Given the description of an element on the screen output the (x, y) to click on. 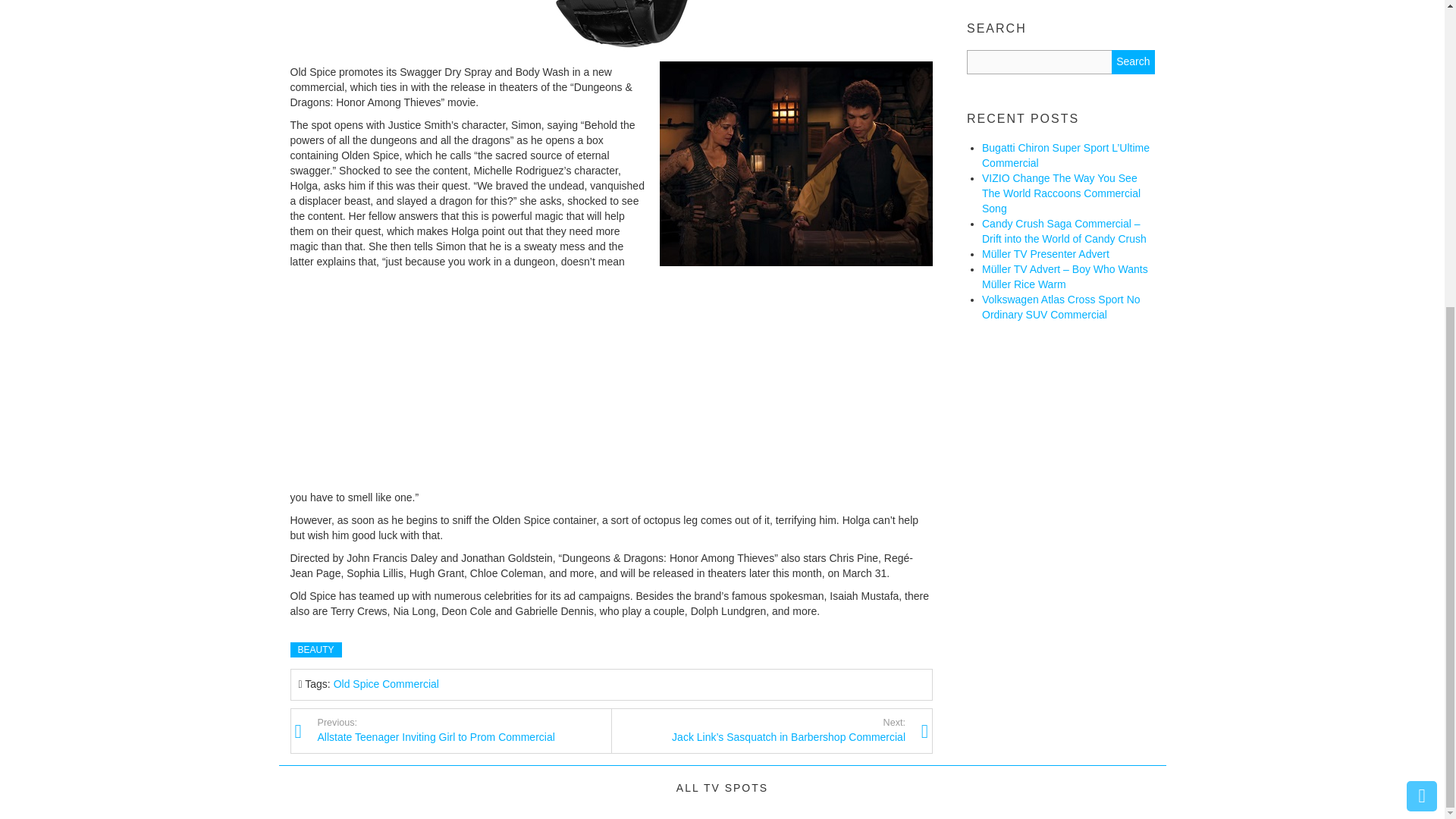
Old Spice Commercial (386, 684)
Search (464, 729)
BEAUTY (1133, 61)
Search (314, 649)
Volkswagen Atlas Cross Sport No Ordinary SUV Commercial (1133, 61)
